Given the description of an element on the screen output the (x, y) to click on. 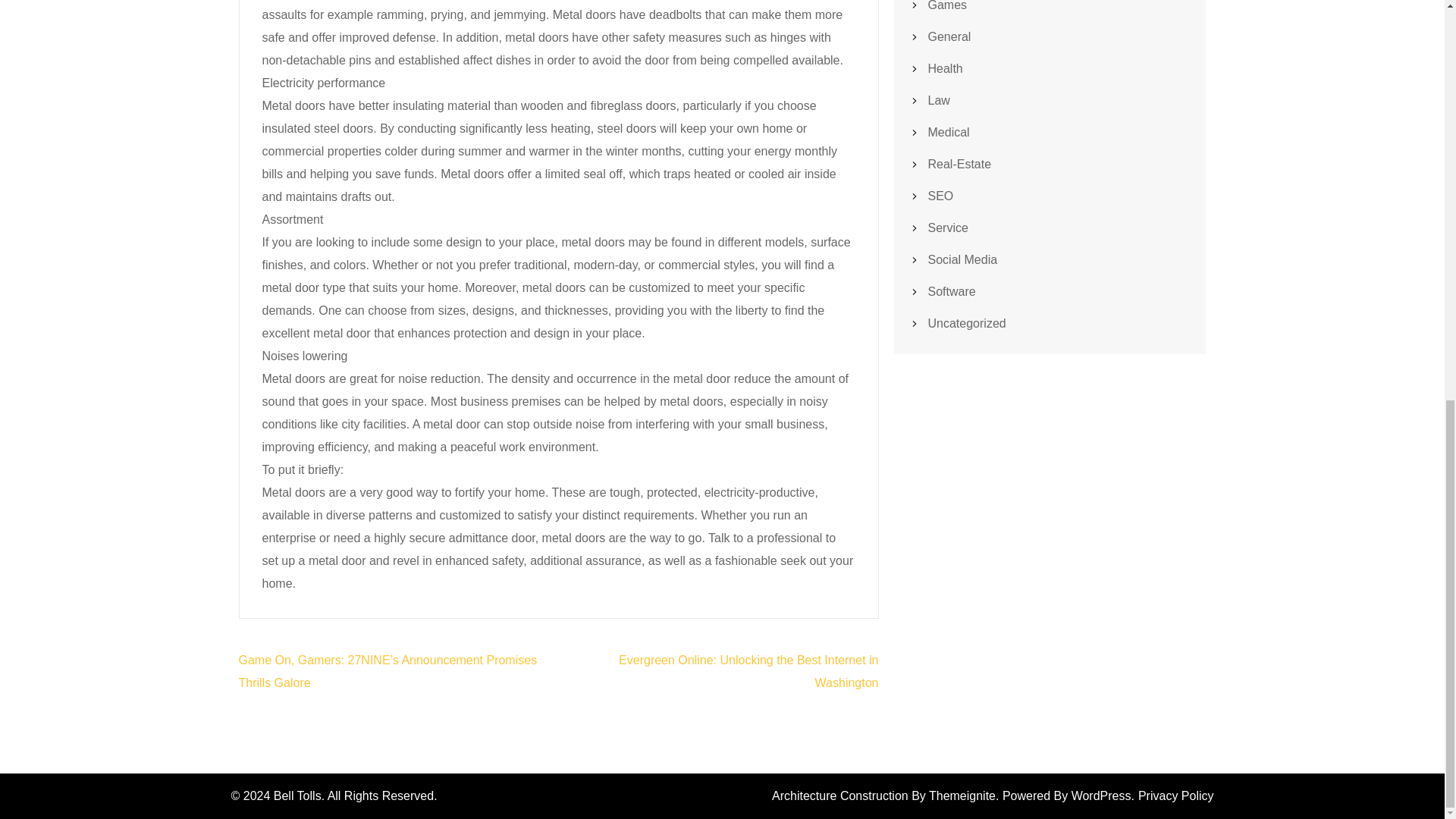
Service (948, 227)
Uncategorized (967, 323)
Software (951, 291)
Law (939, 100)
Medical (948, 132)
Social Media (962, 259)
SEO (940, 195)
Evergreen Online: Unlocking the Best Internet in Washington (747, 671)
General (949, 36)
Real-Estate (959, 164)
Health (945, 68)
Games (948, 5)
